Given the description of an element on the screen output the (x, y) to click on. 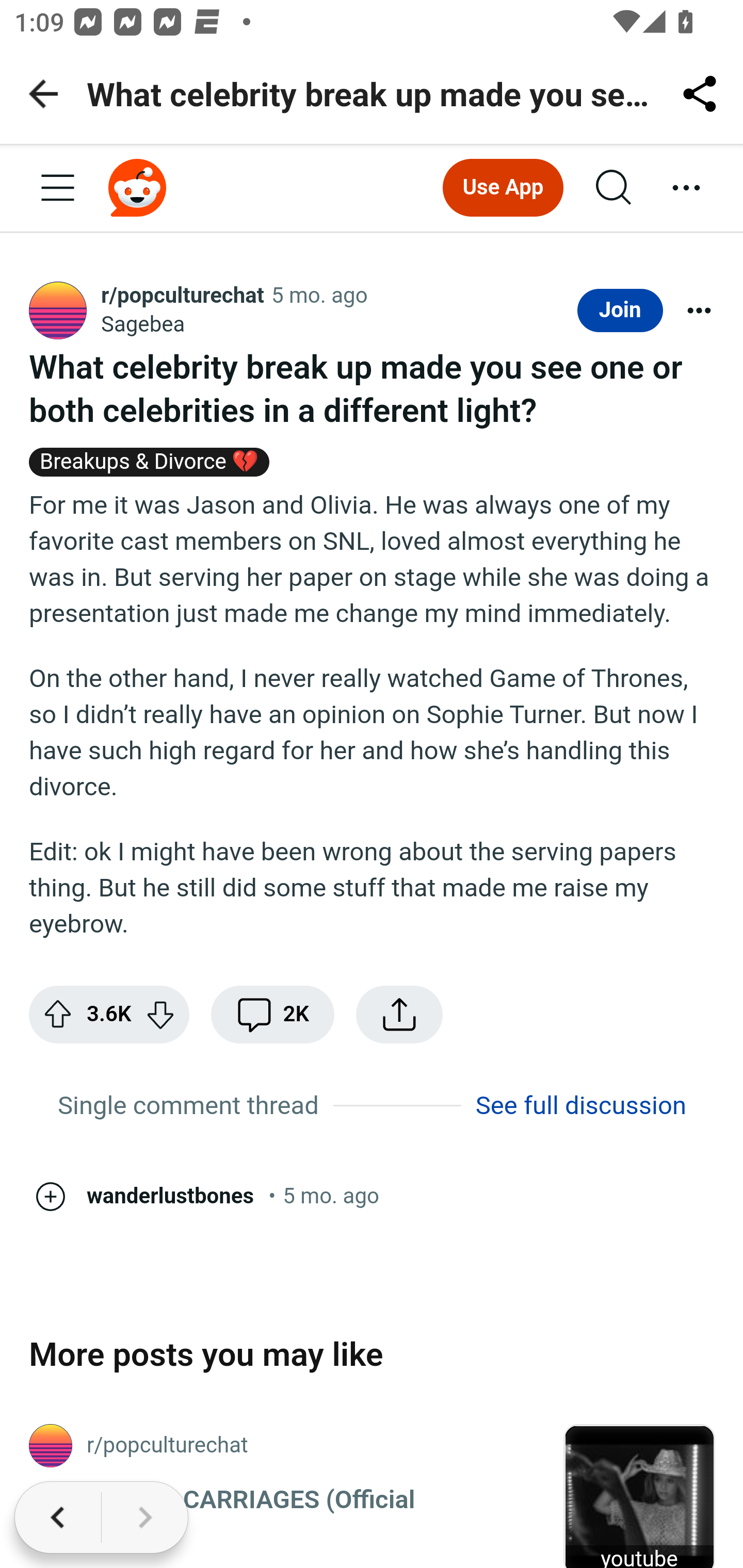
Open menu (58, 188)
Expand search (614, 188)
Expand user menu (686, 188)
Home (137, 187)
Use App (502, 187)
r/popculturechat (183, 297)
Open user actions (698, 311)
Join (619, 310)
Sagebea (143, 325)
Breakups & Divorce 💔 (149, 466)
Upvote (58, 1013)
Downvote (159, 1013)
2K comments (272, 1013)
Share (399, 1013)
See full discussion (581, 1104)
wanderlustbones's profile wanderlustbones (170, 1195)
